Given the description of an element on the screen output the (x, y) to click on. 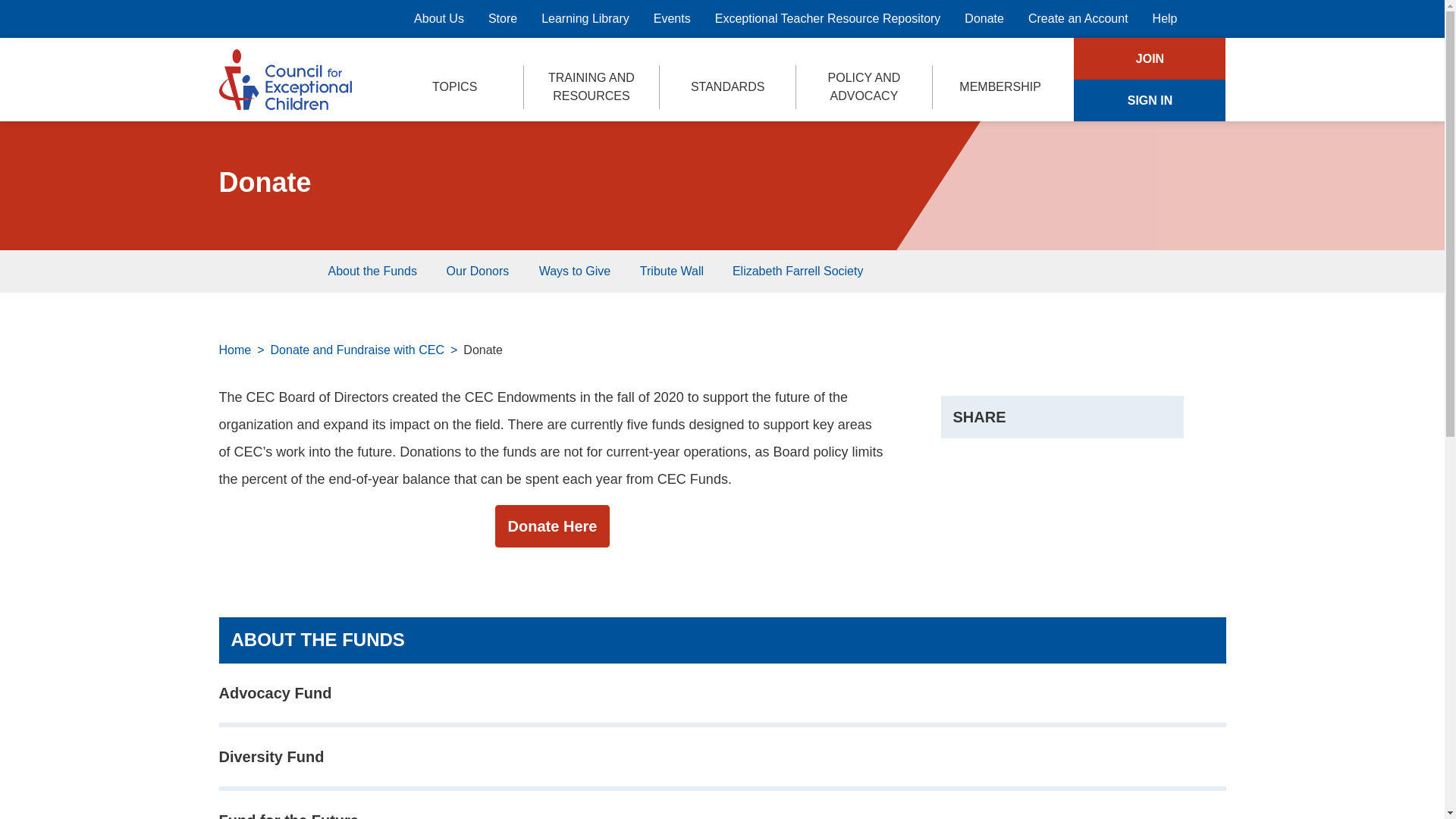
Create an Account (1078, 19)
About Us (438, 19)
Learning Library (585, 19)
Help (1164, 19)
TOPICS (454, 86)
About us (438, 19)
Exceptional Teacher Resource Repository (828, 19)
Events (672, 19)
Store (502, 19)
